Given the description of an element on the screen output the (x, y) to click on. 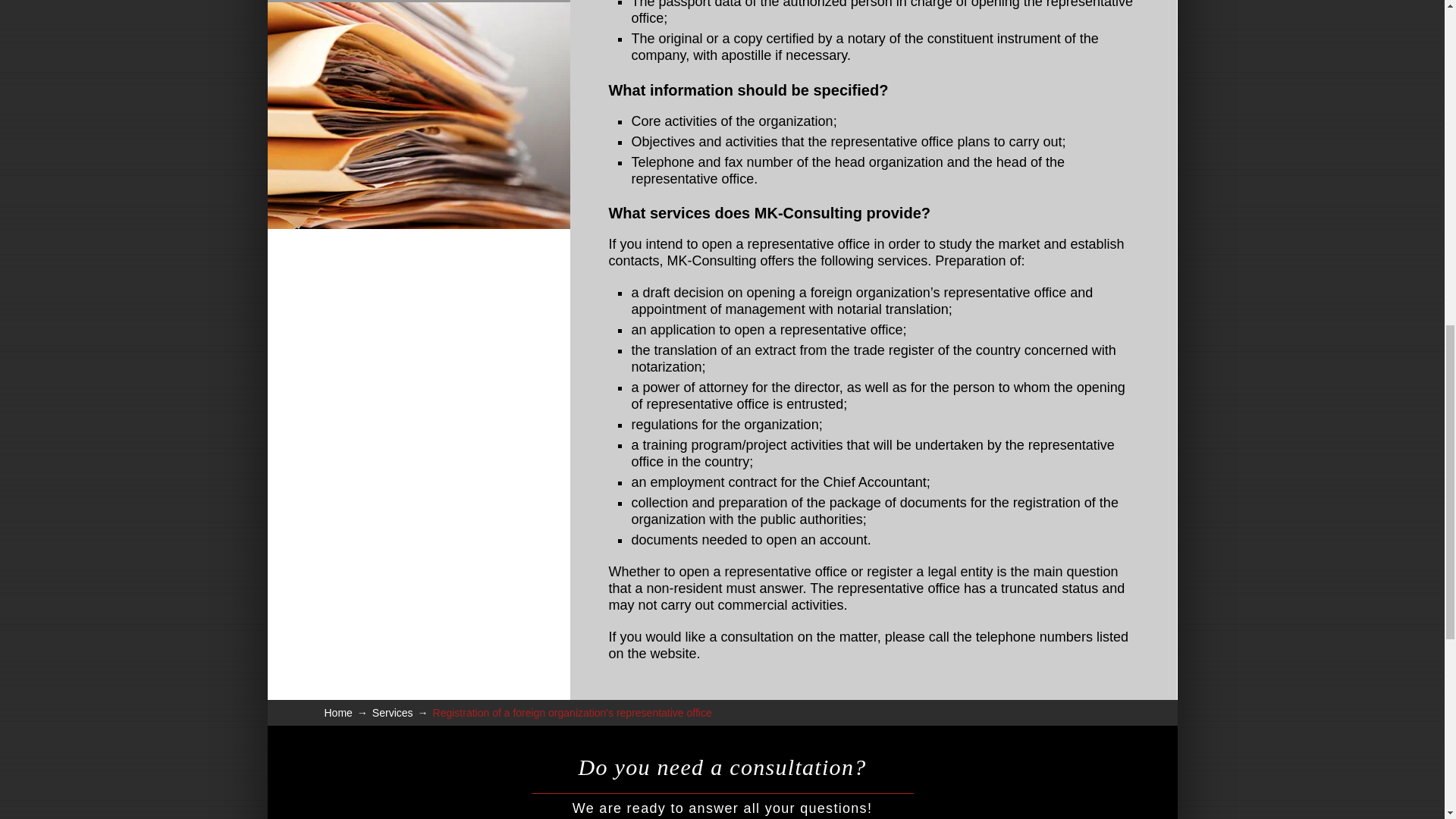
Services (392, 712)
Home (338, 712)
